Given the description of an element on the screen output the (x, y) to click on. 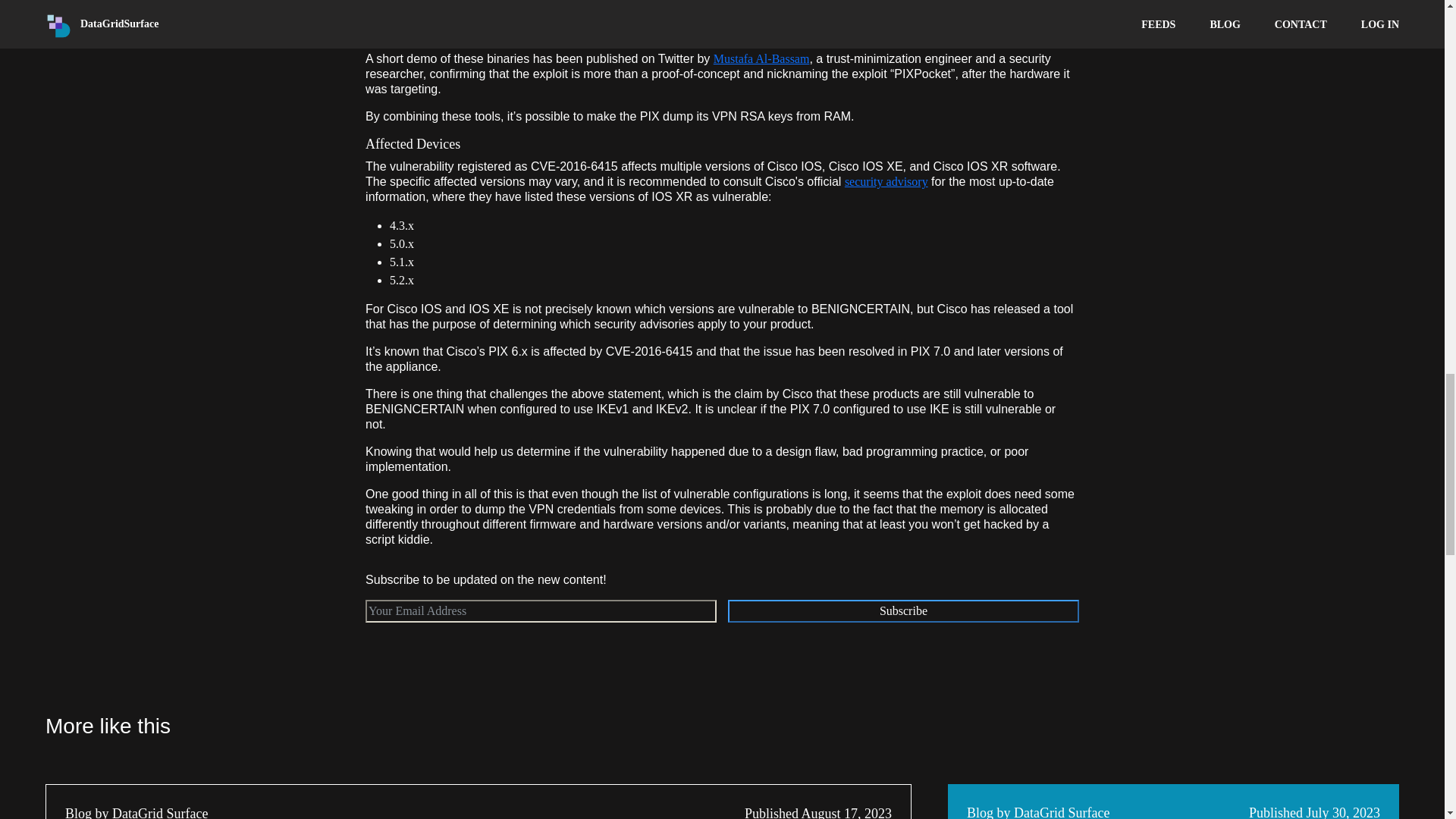
Subscribe (903, 610)
security advisory (886, 181)
bc-id (402, 11)
Mustafa Al-Bassam (761, 58)
bc-parser (412, 29)
